Given the description of an element on the screen output the (x, y) to click on. 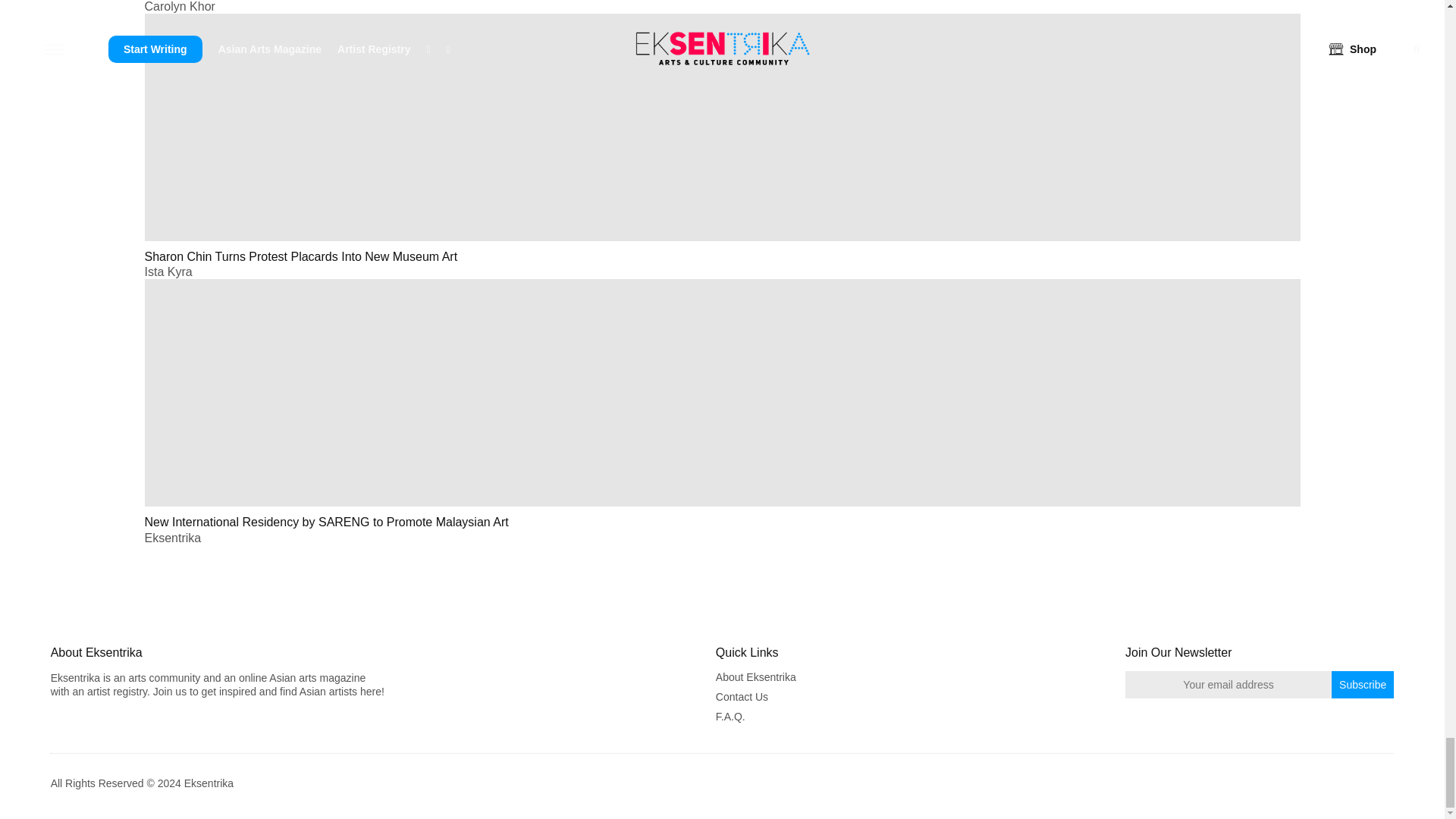
Subscribe (1362, 684)
